Given the description of an element on the screen output the (x, y) to click on. 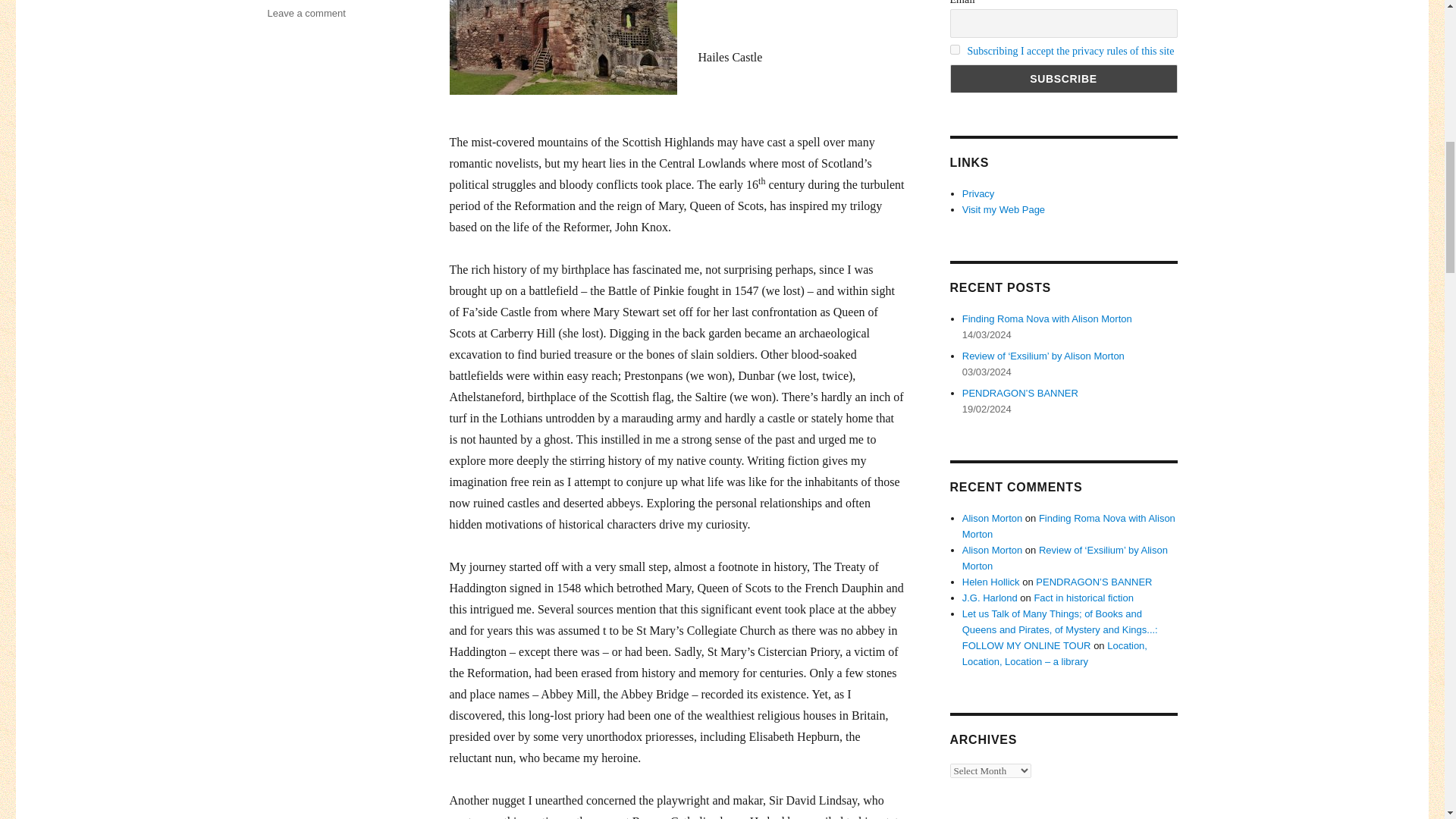
Finding Roma Nova with Alison Morton (1068, 525)
on (954, 49)
Alison Morton (992, 550)
Subscribe (1062, 78)
Privacy (978, 193)
Finding Roma Nova with Alison Morton (1047, 318)
Alison Morton (992, 518)
Visit my Web Page (1003, 209)
Subscribing I accept the privacy rules of this site (1071, 50)
Subscribe (1062, 78)
